Given the description of an element on the screen output the (x, y) to click on. 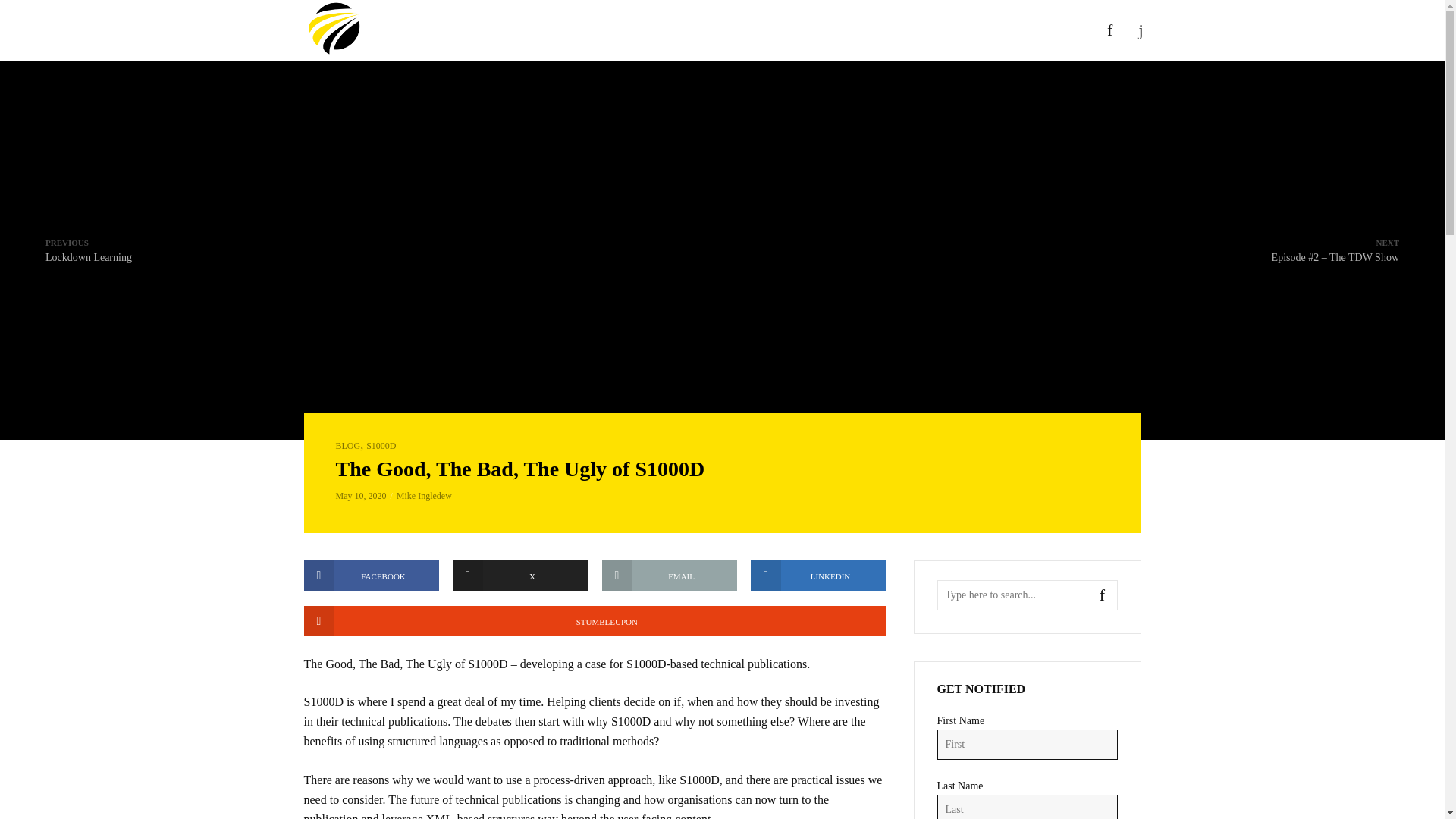
FACEBOOK (370, 575)
Mike Ingledew (423, 495)
BLOG (346, 445)
X (520, 575)
LINKEDIN (818, 575)
STUMBLEUPON (593, 621)
EMAIL (88, 250)
S1000D (670, 575)
